Given the description of an element on the screen output the (x, y) to click on. 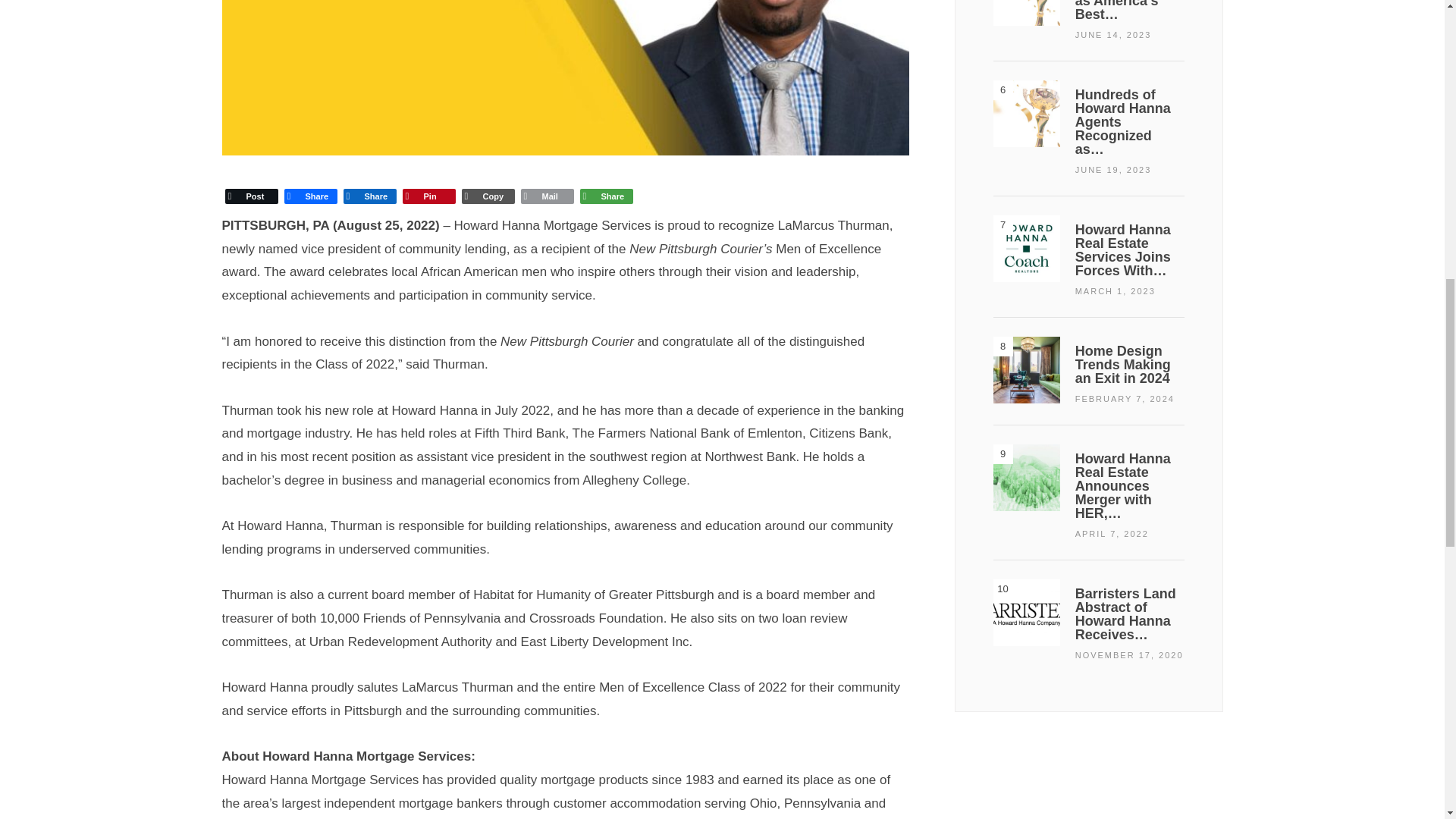
More Options (605, 196)
LinkedIn (368, 196)
Copy Link (487, 196)
Email This (546, 196)
Pinterest (428, 196)
Facebook (310, 196)
